Given the description of an element on the screen output the (x, y) to click on. 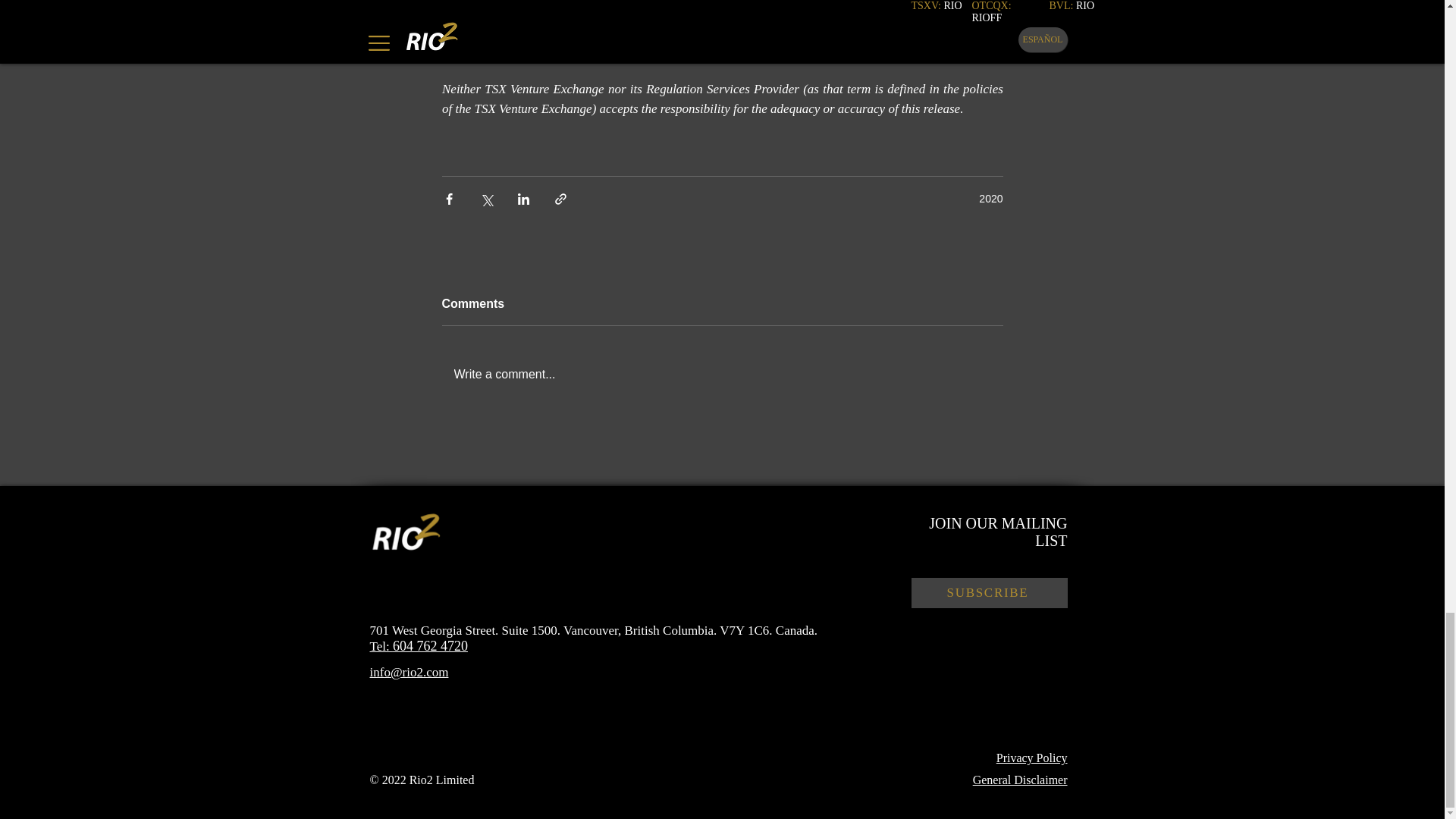
Tel: 604 762 4720 (418, 646)
SUBSCRIBE (989, 592)
General Disclaimer (1019, 779)
2020 (990, 198)
Privacy Policy (1031, 757)
Write a comment... (722, 373)
